Given the description of an element on the screen output the (x, y) to click on. 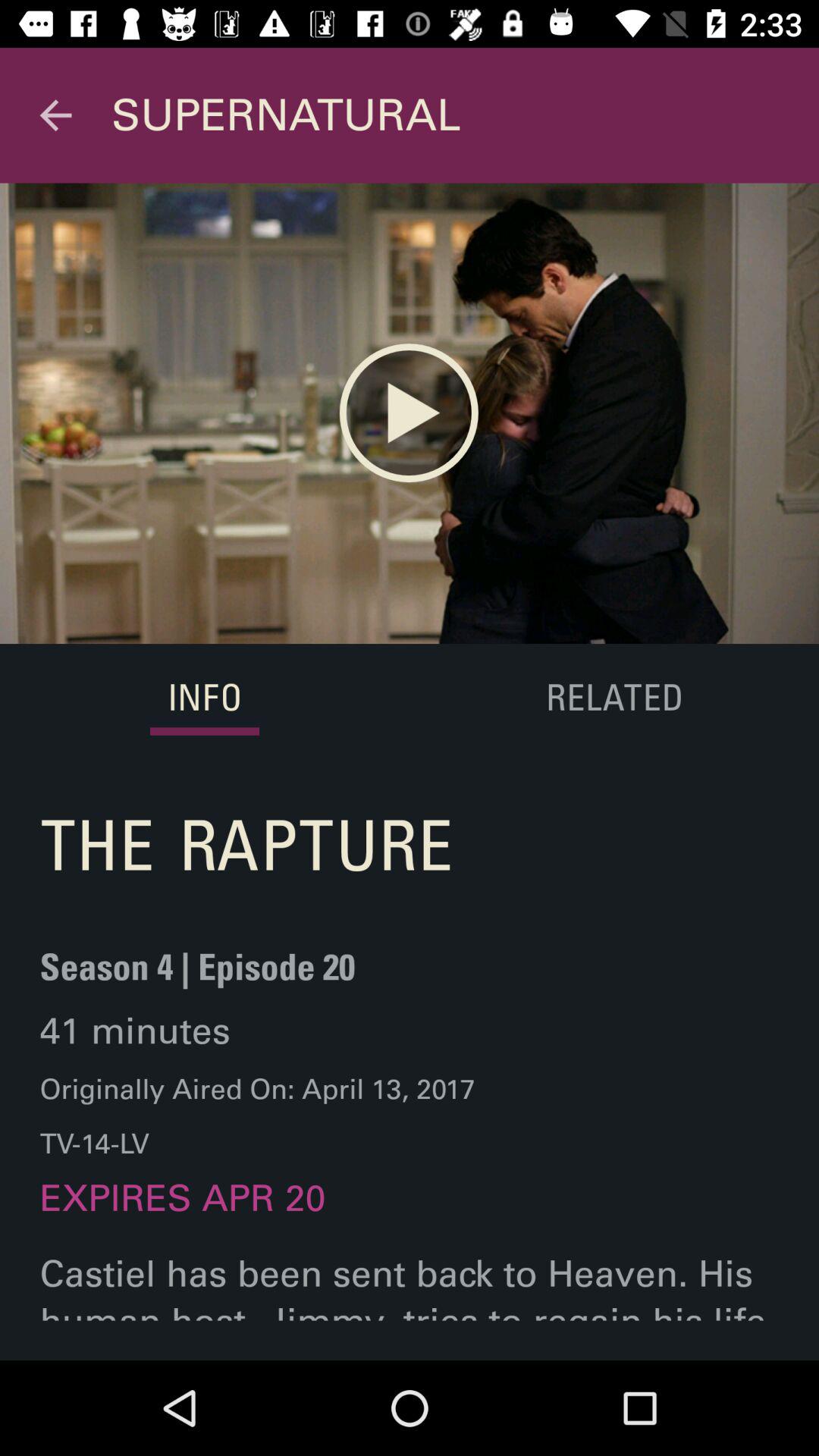
open the item below the rapture (196, 976)
